Given the description of an element on the screen output the (x, y) to click on. 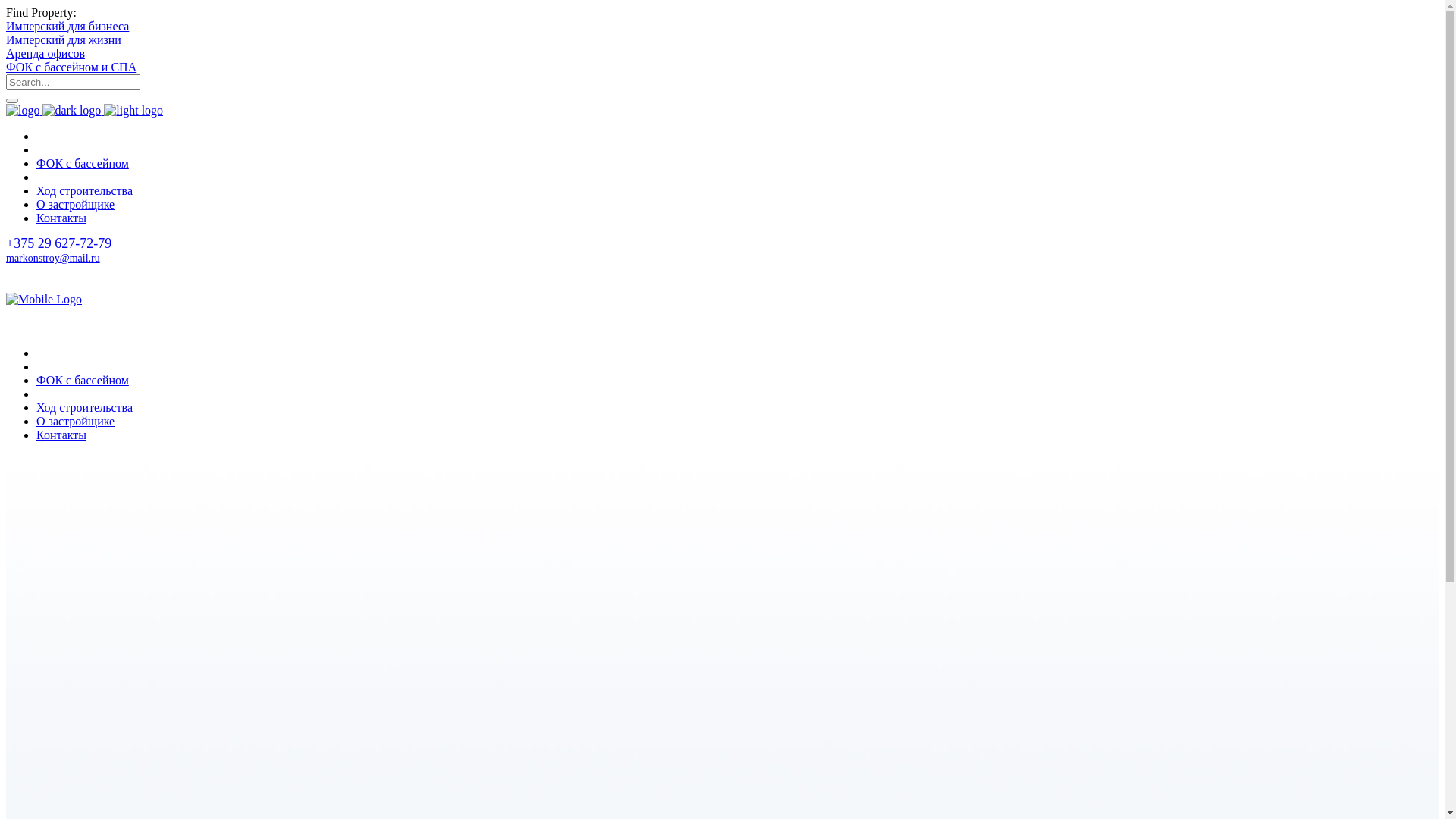
+375 29 627-72-79 Element type: text (58, 243)
markonstroy@mail.ru Element type: text (53, 257)
